Given the description of an element on the screen output the (x, y) to click on. 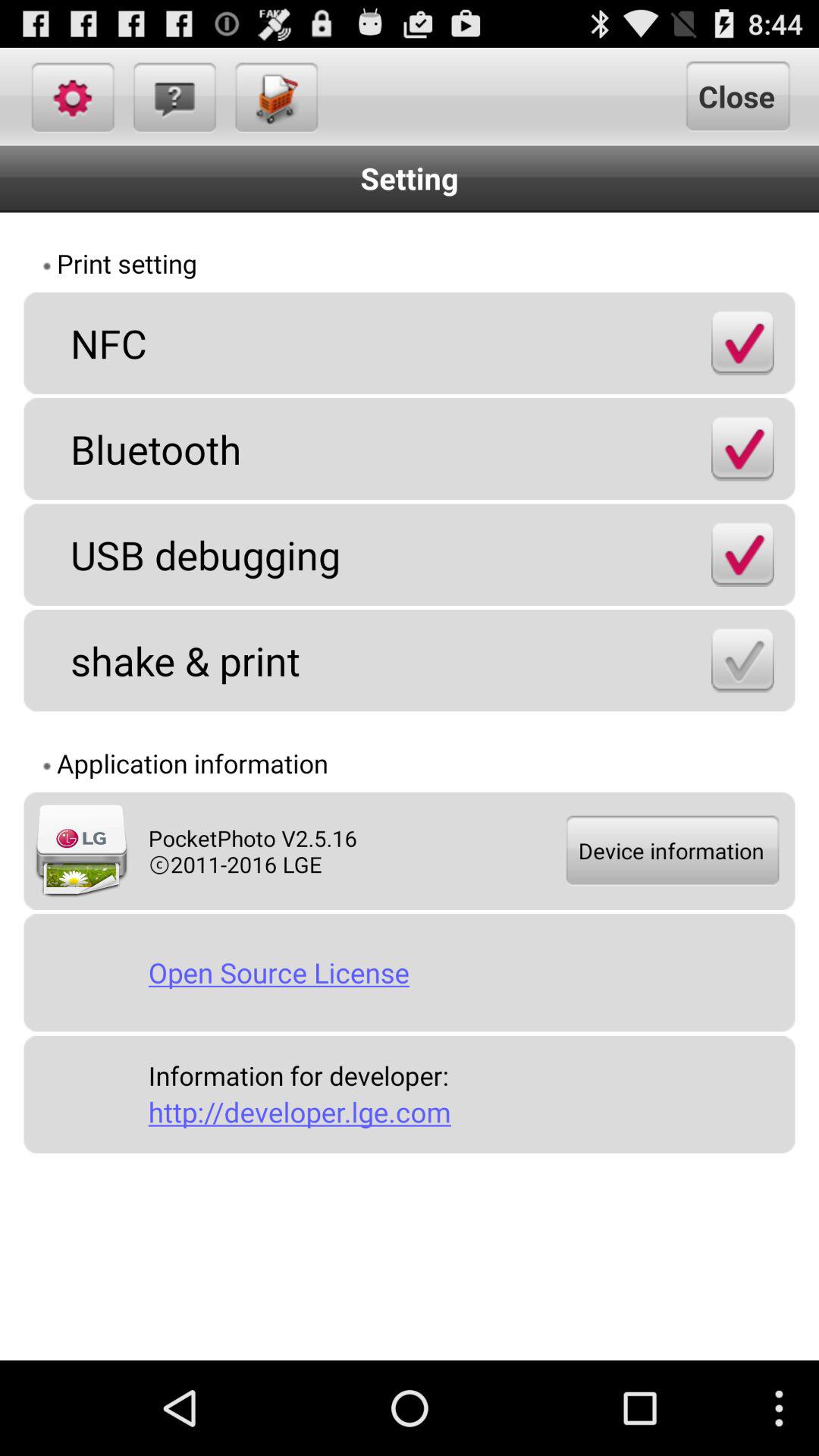
turn off the icon next to close (275, 96)
